Given the description of an element on the screen output the (x, y) to click on. 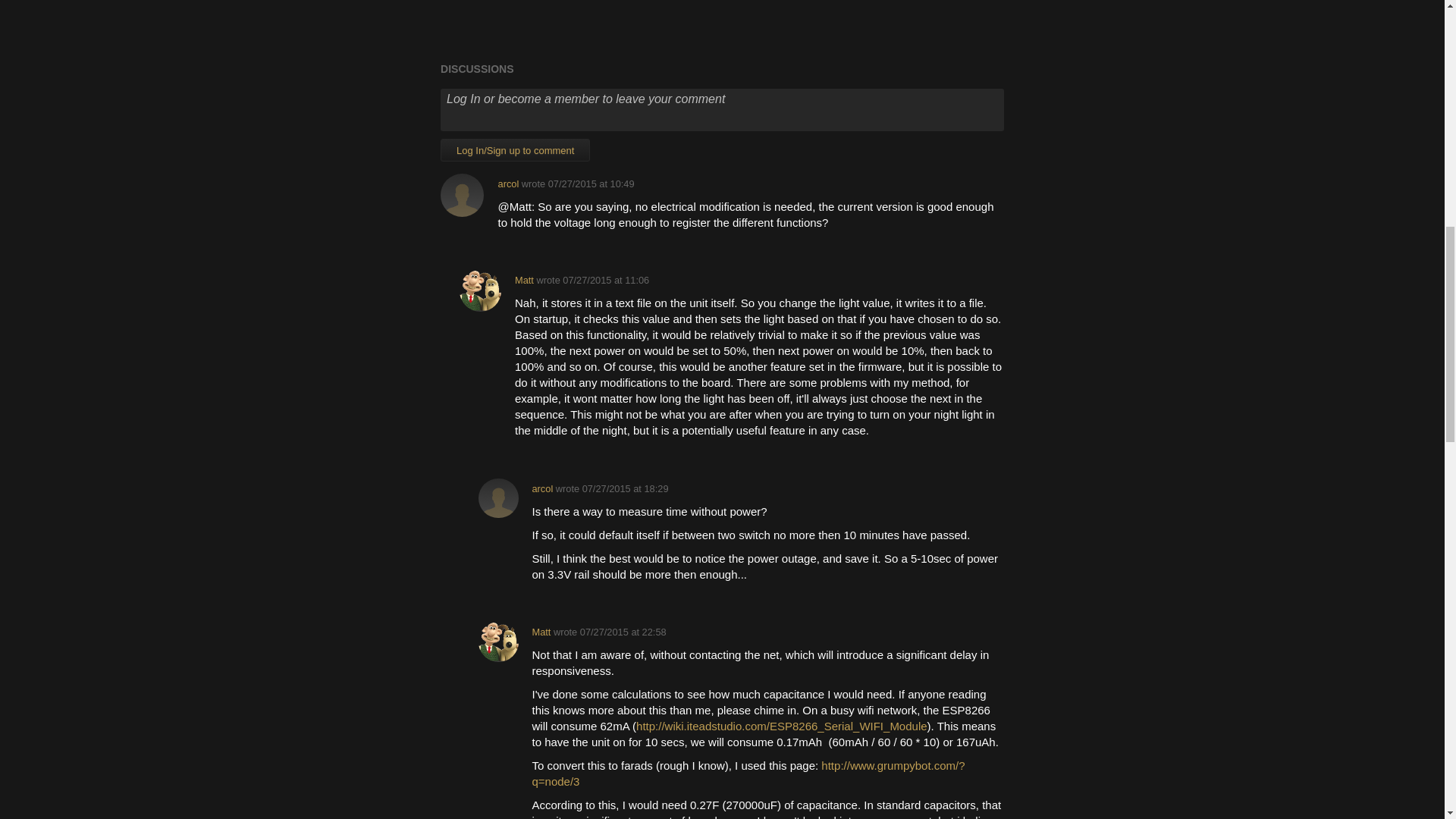
9 years ago (591, 183)
9 years ago (625, 488)
9 years ago (605, 279)
9 years ago (622, 632)
